Given the description of an element on the screen output the (x, y) to click on. 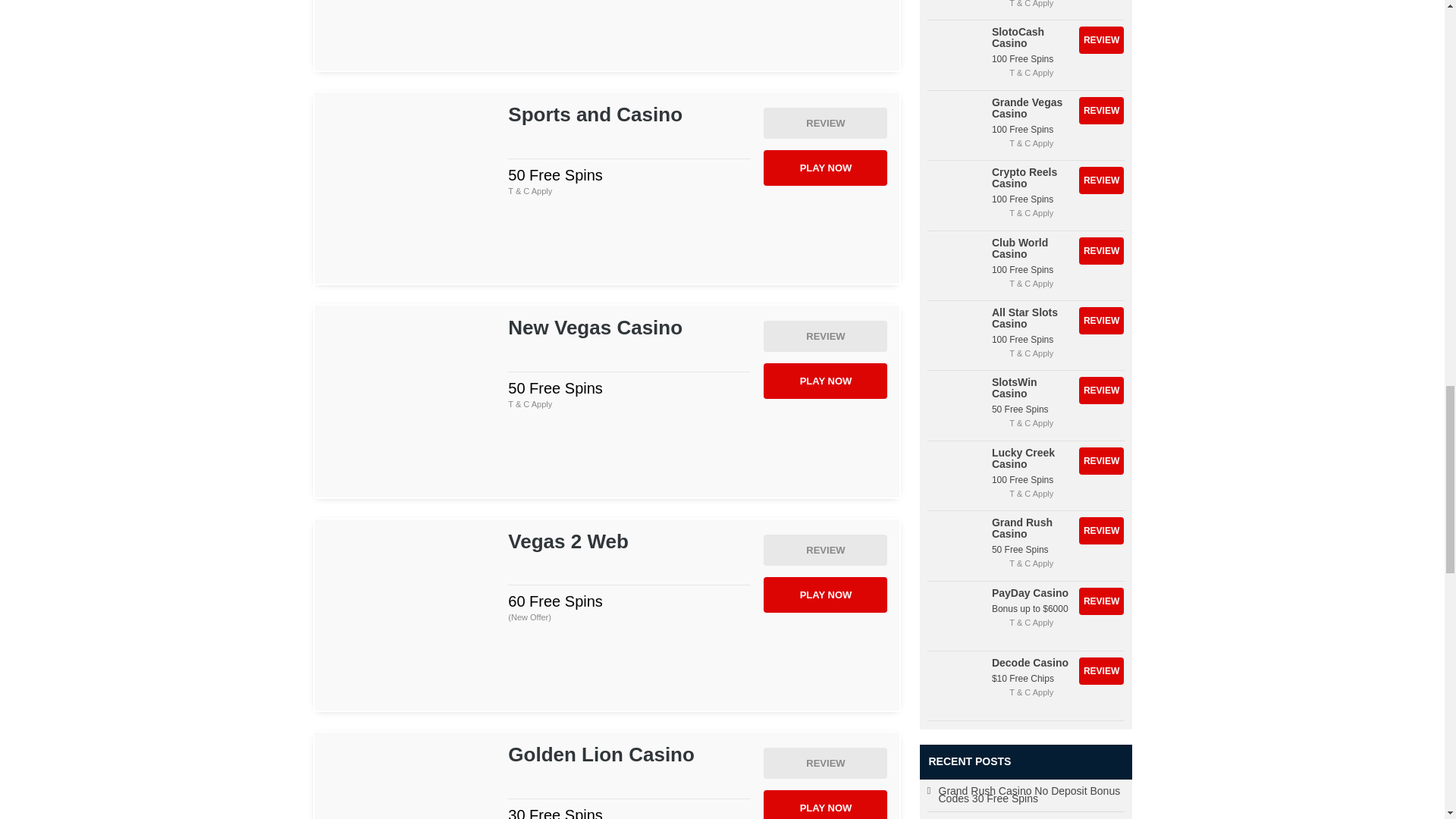
Vegas 2 Web (410, 614)
Sports and Casino (824, 122)
Sports and Casino (410, 187)
New Vegas Casino (410, 400)
Ducky Luck Casino (410, 29)
New Vegas Casino (824, 336)
